Given the description of an element on the screen output the (x, y) to click on. 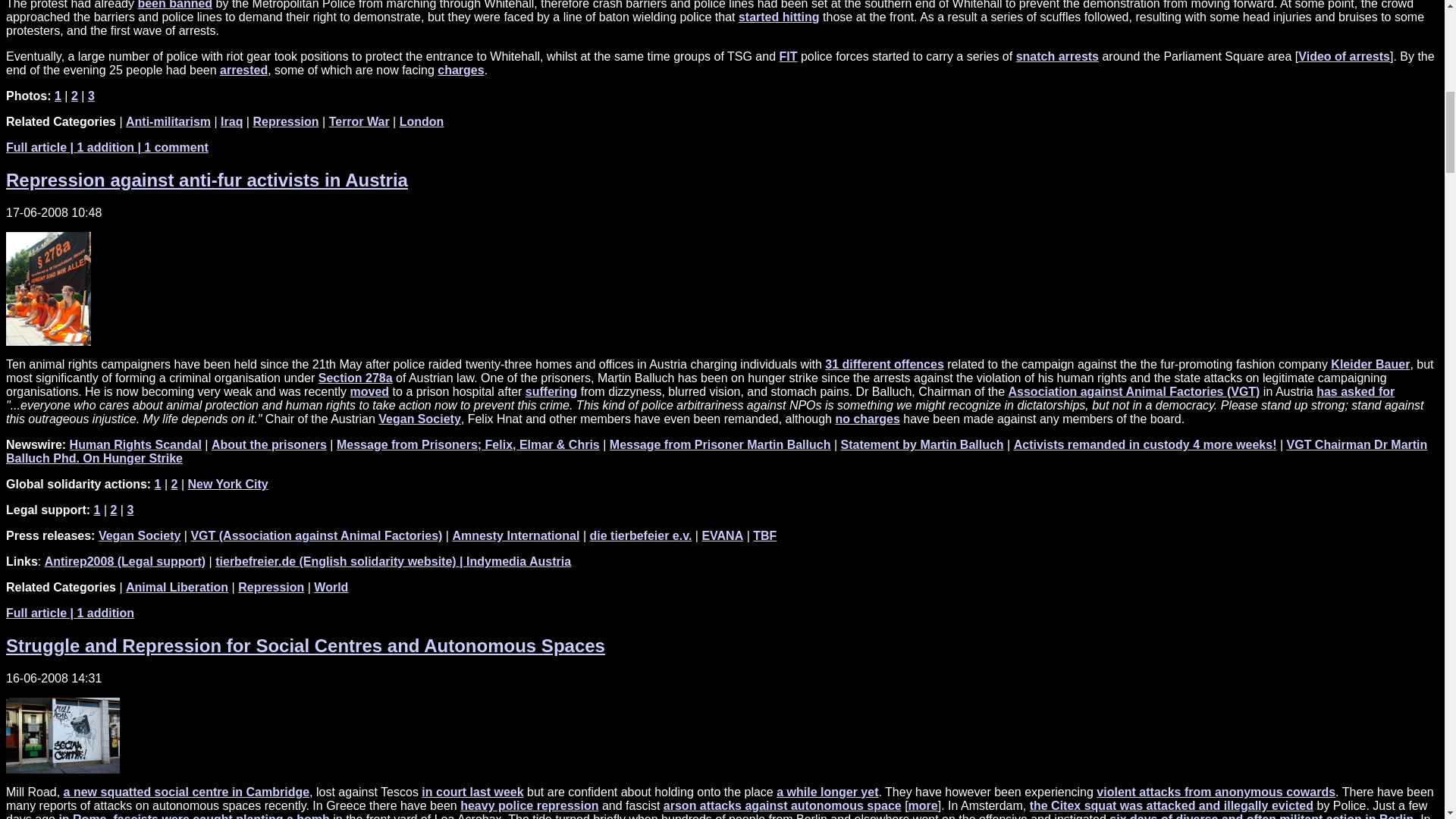
2 (74, 95)
1 (58, 95)
Anti-militarism (168, 121)
arrested (243, 69)
started hitting (778, 16)
3 (90, 95)
Iraq (232, 121)
been banned (174, 4)
snatch arrests (1057, 56)
FIT (787, 56)
charges (460, 69)
Video of arrests (1344, 56)
